Given the description of an element on the screen output the (x, y) to click on. 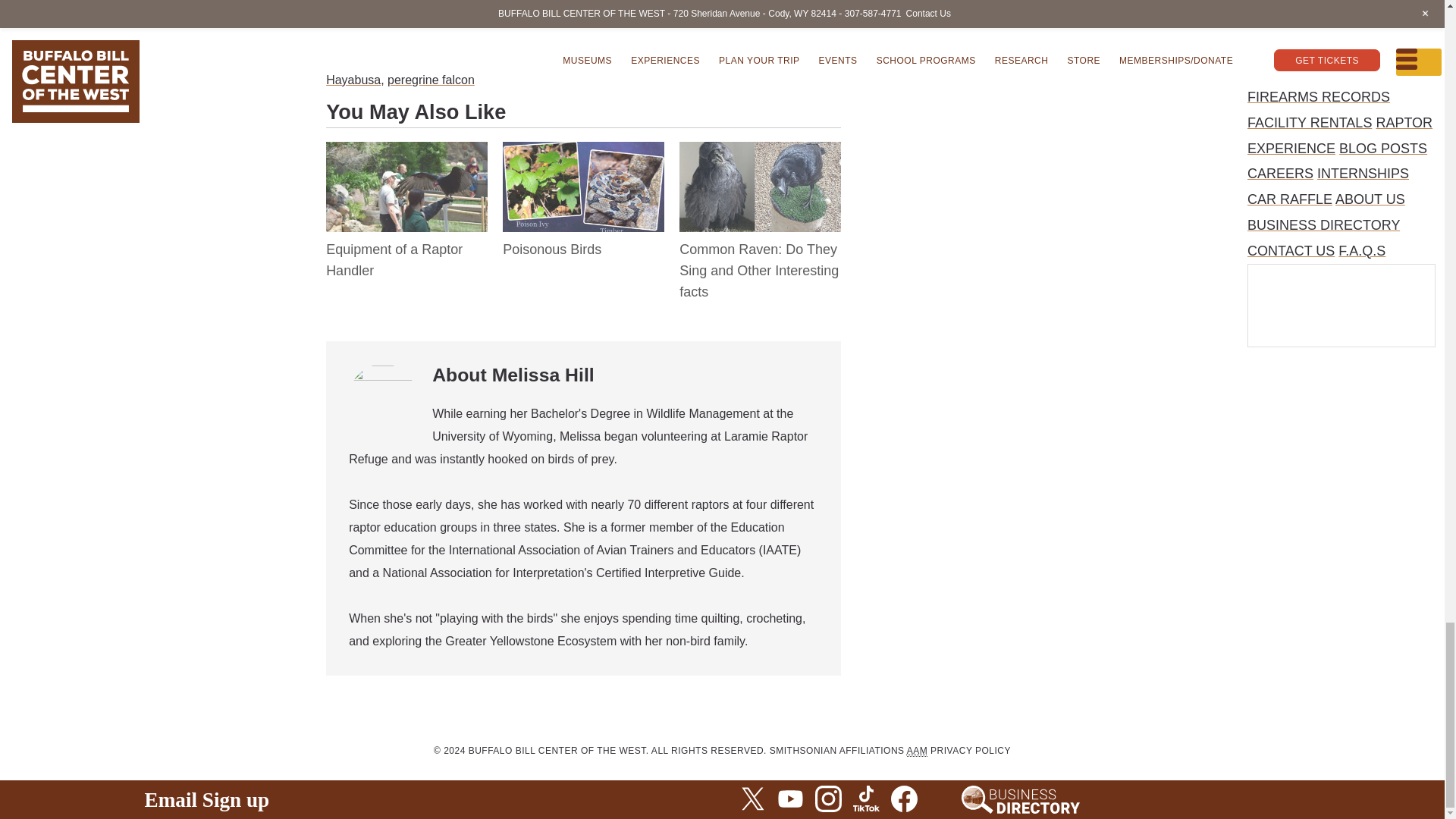
The American Alliance of Museums (917, 750)
Permanent Link to Poisonous Birds (551, 249)
Permanent Link to Equipment of a Raptor Handler (394, 259)
Permanent Link to Equipment of a Raptor Handler (406, 153)
Permanent Link to Poisonous Birds (582, 153)
